Given the description of an element on the screen output the (x, y) to click on. 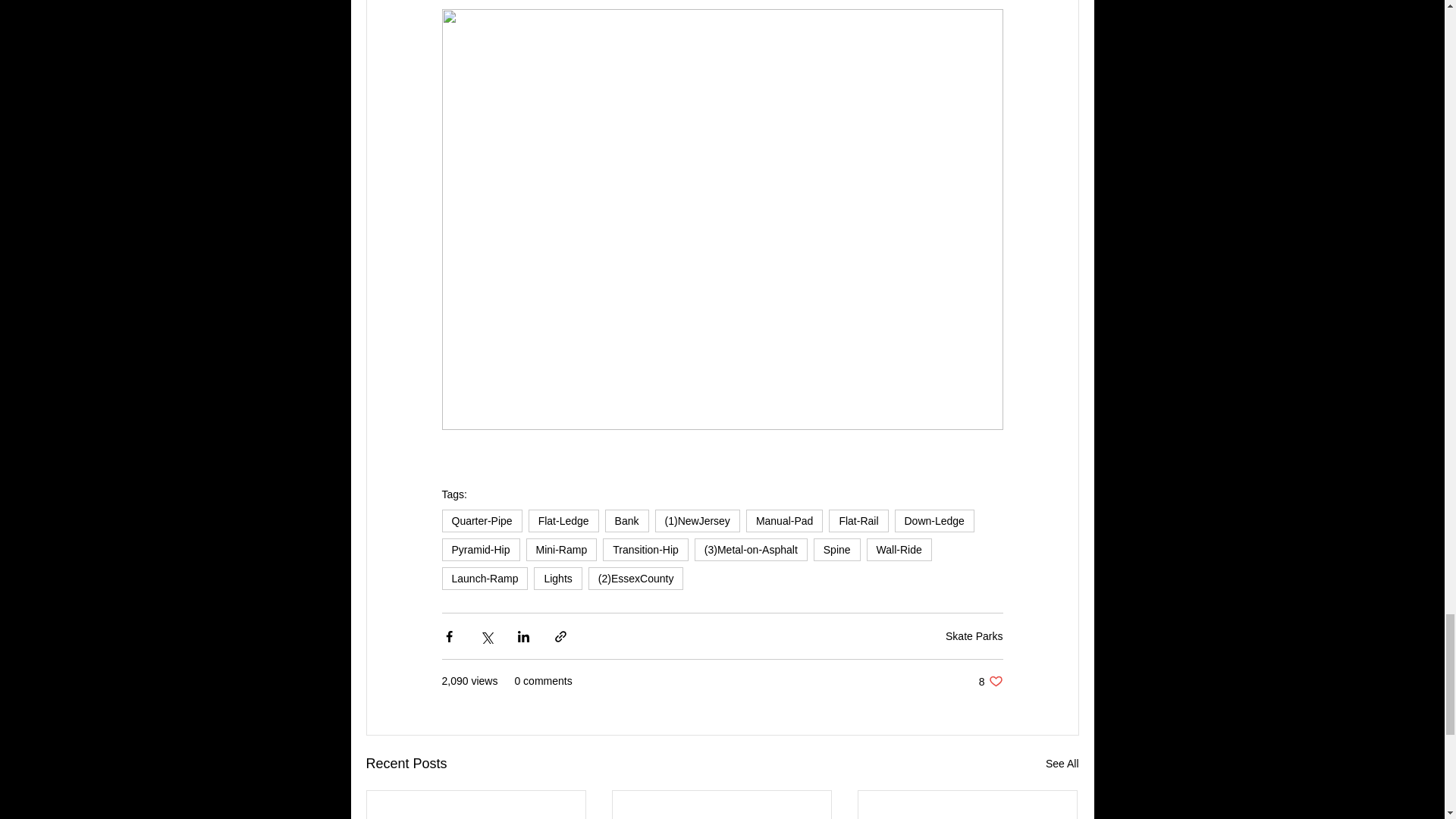
See All (1061, 763)
Launch-Ramp (484, 578)
Lights (557, 578)
Spine (836, 549)
Quarter-Pipe (481, 520)
Mini-Ramp (560, 549)
Flat-Ledge (563, 520)
Flat-Rail (858, 520)
Pyramid-Hip (480, 549)
Down-Ledge (934, 520)
Wall-Ride (898, 549)
Skate Parks (973, 635)
Manual-Pad (784, 520)
Bank (627, 520)
